Given the description of an element on the screen output the (x, y) to click on. 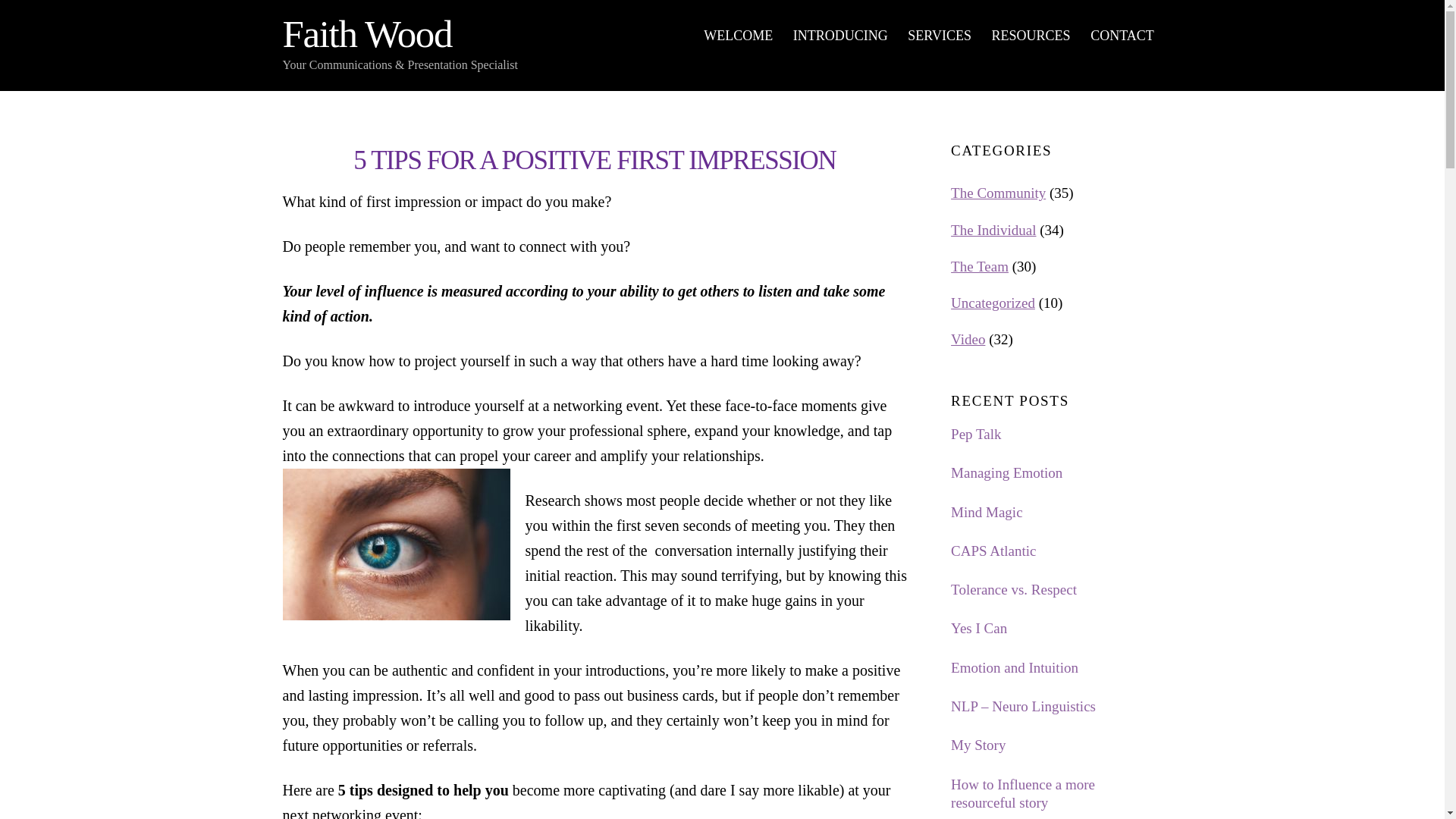
WELCOME (737, 35)
Yes I Can (1055, 628)
Faith Wood (721, 35)
The Community (366, 34)
Managing Emotion (997, 192)
Mind Magic (1055, 473)
RESOURCES (1055, 512)
How to Influence a more resourceful story (1031, 35)
The Team (1055, 794)
My Story (979, 266)
INTRODUCING (1055, 745)
SERVICES (840, 35)
Pep Talk (939, 35)
CAPS Atlantic (1055, 434)
